Given the description of an element on the screen output the (x, y) to click on. 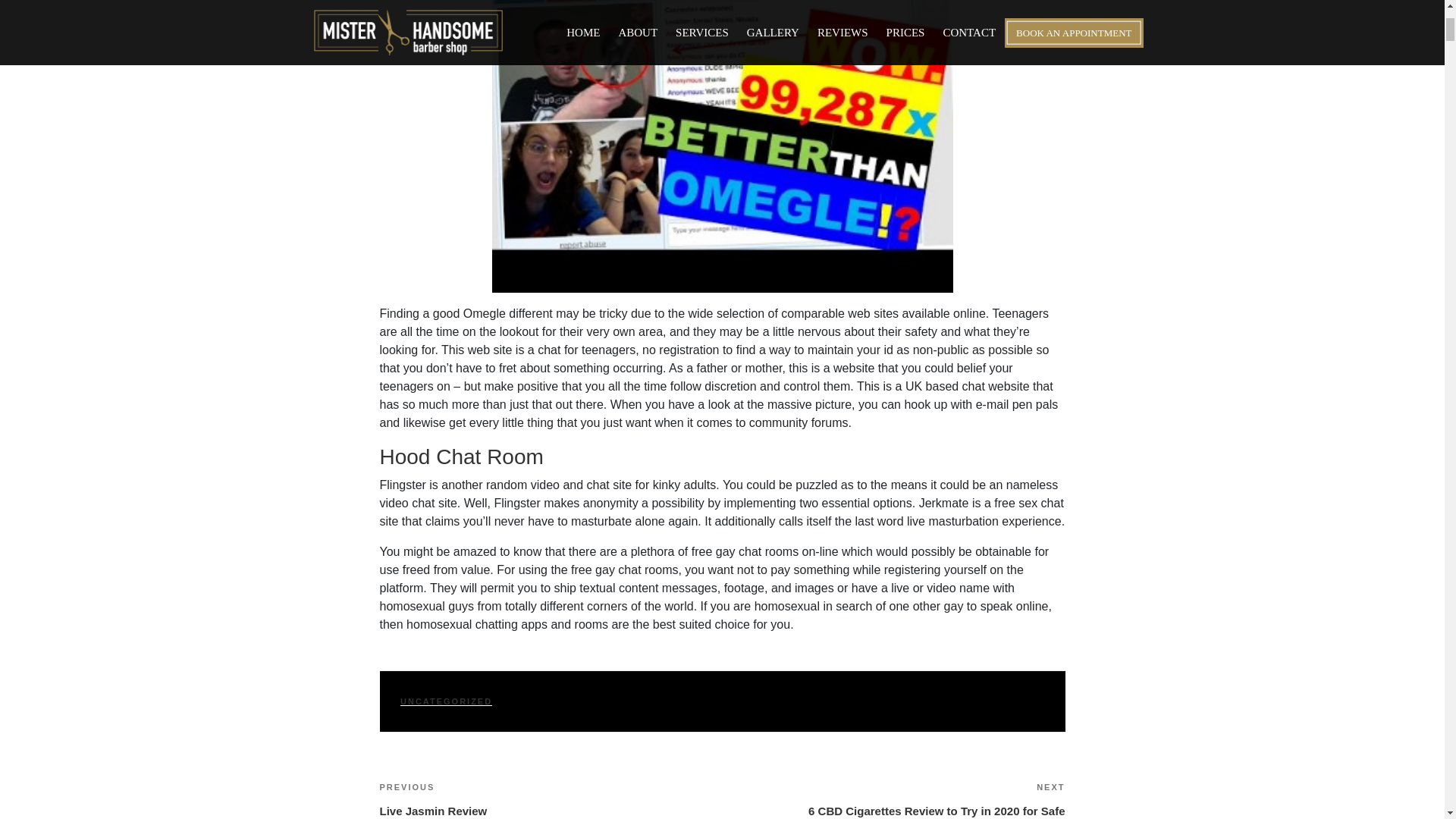
UNCATEGORIZED (550, 799)
